Given the description of an element on the screen output the (x, y) to click on. 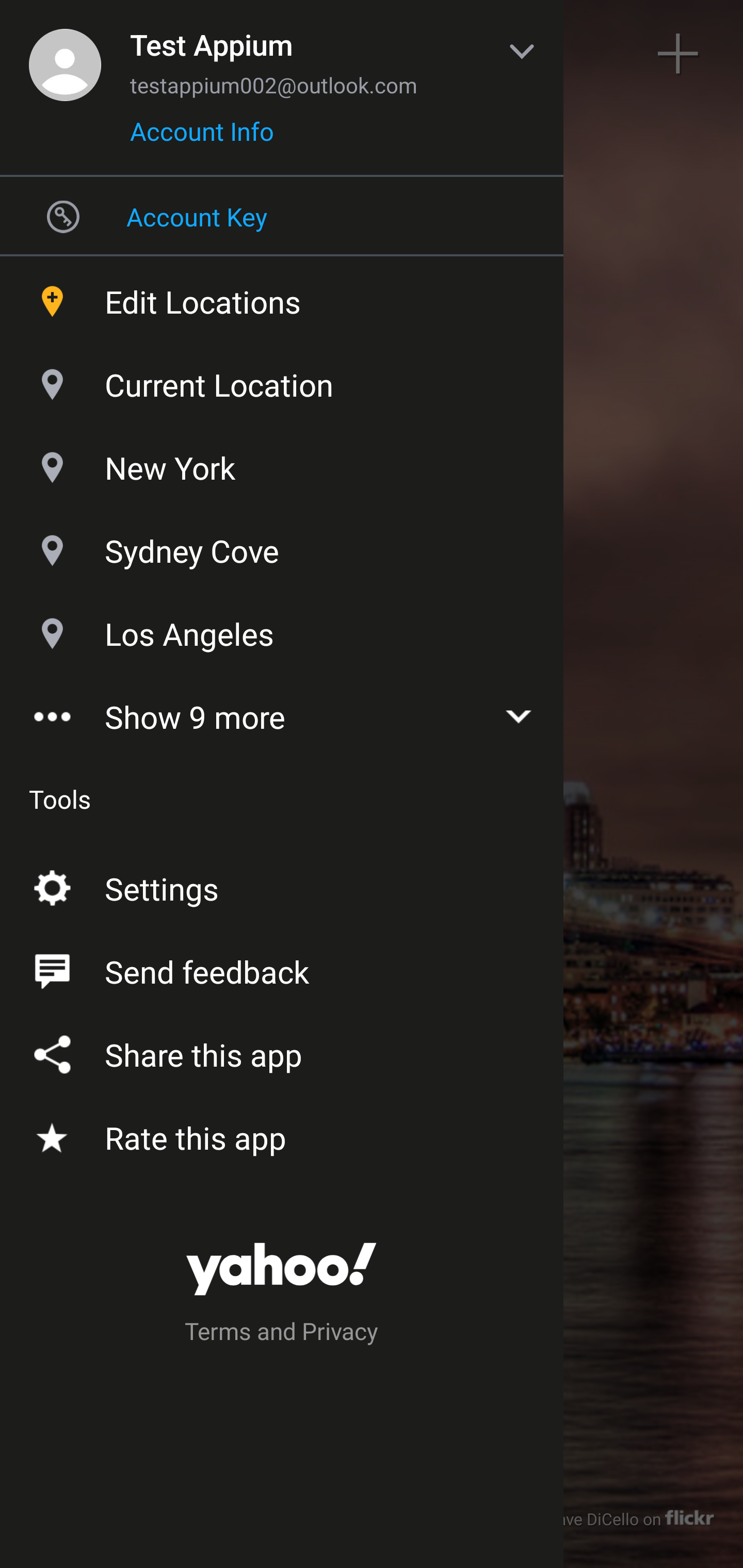
Sidebar (64, 54)
Account Info (202, 137)
Account Key (281, 216)
Edit Locations (281, 296)
Current Location (281, 379)
New York (281, 462)
Sydney Cove (281, 546)
Los Angeles (281, 629)
Settings (281, 884)
Send feedback (281, 967)
Share this app (281, 1050)
Terms and Privacy Terms and privacy button (281, 1334)
